Given the description of an element on the screen output the (x, y) to click on. 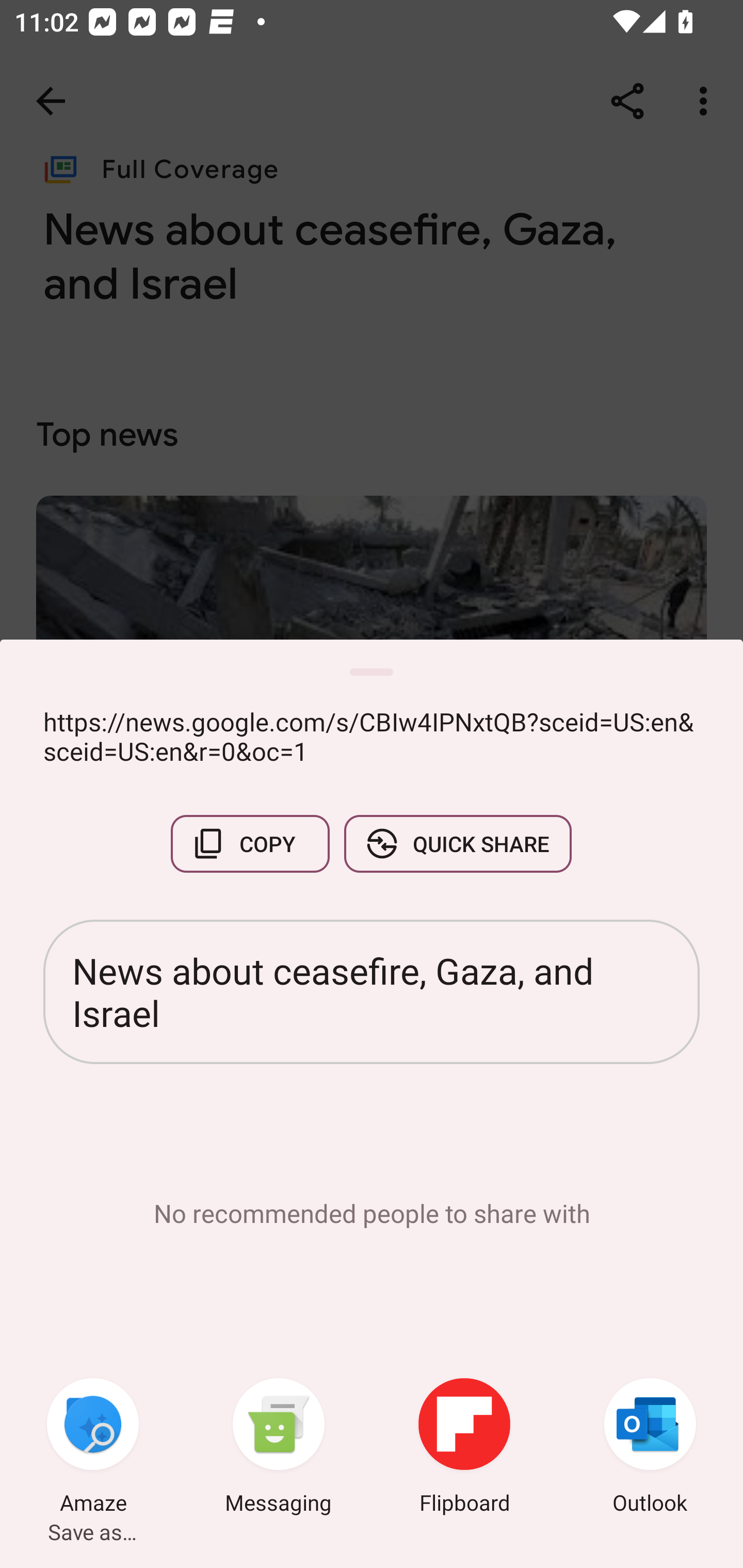
COPY (249, 844)
QUICK SHARE (457, 844)
Amaze Save as… (92, 1448)
Messaging (278, 1448)
Flipboard (464, 1448)
Outlook (650, 1448)
